Given the description of an element on the screen output the (x, y) to click on. 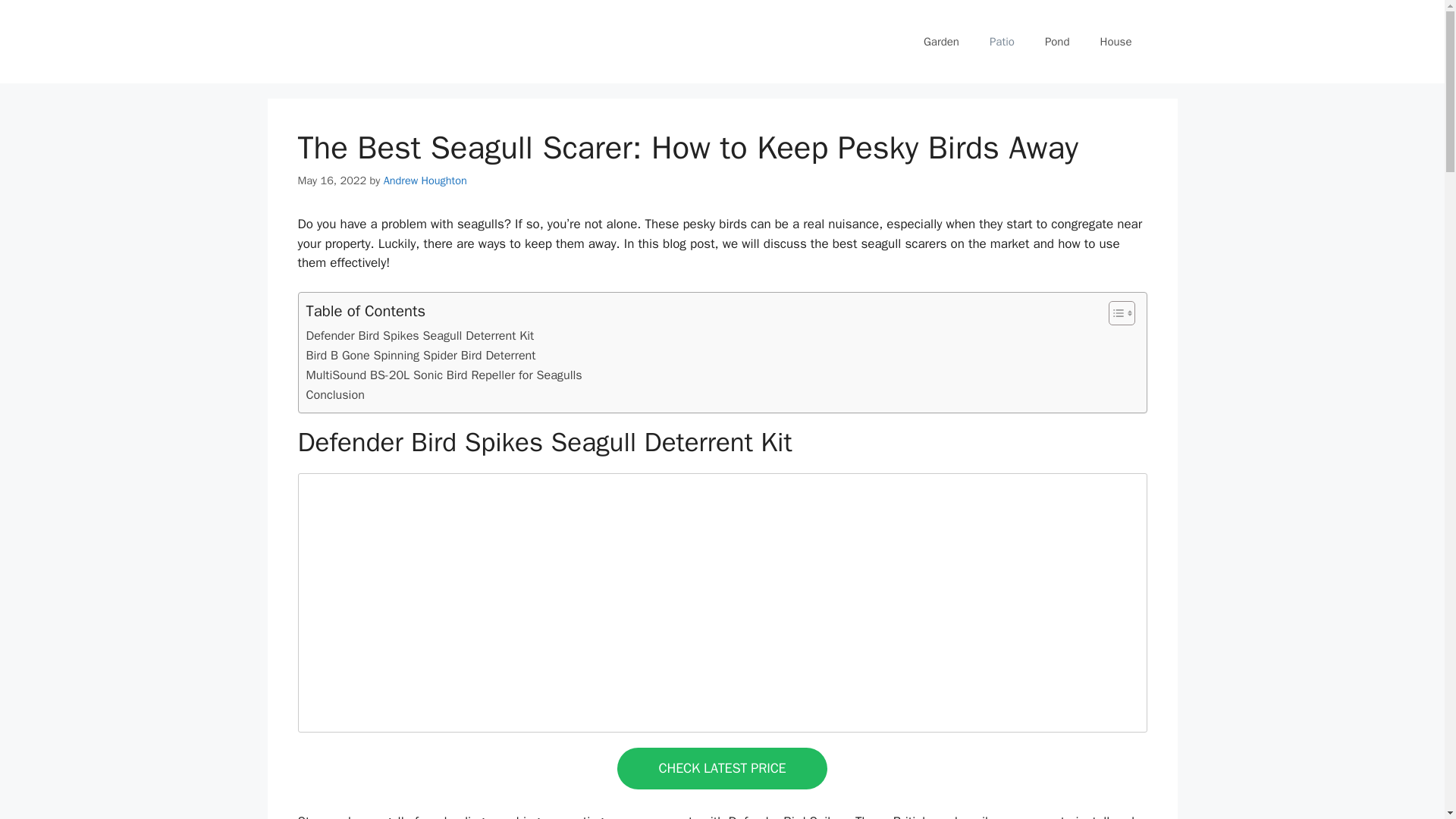
Defender Bird Spikes Seagull Deterrent Kit (419, 335)
Patio (1001, 41)
MultiSound BS-20L Sonic Bird Repeller for Seagulls (443, 374)
Conclusion (335, 394)
LimeTreeGardens (429, 41)
Garden (941, 41)
Pond (1056, 41)
Bird B Gone Spinning Spider Bird Deterrent (420, 355)
Bird B Gone Spinning Spider Bird Deterrent (420, 355)
Conclusion (335, 394)
